Given the description of an element on the screen output the (x, y) to click on. 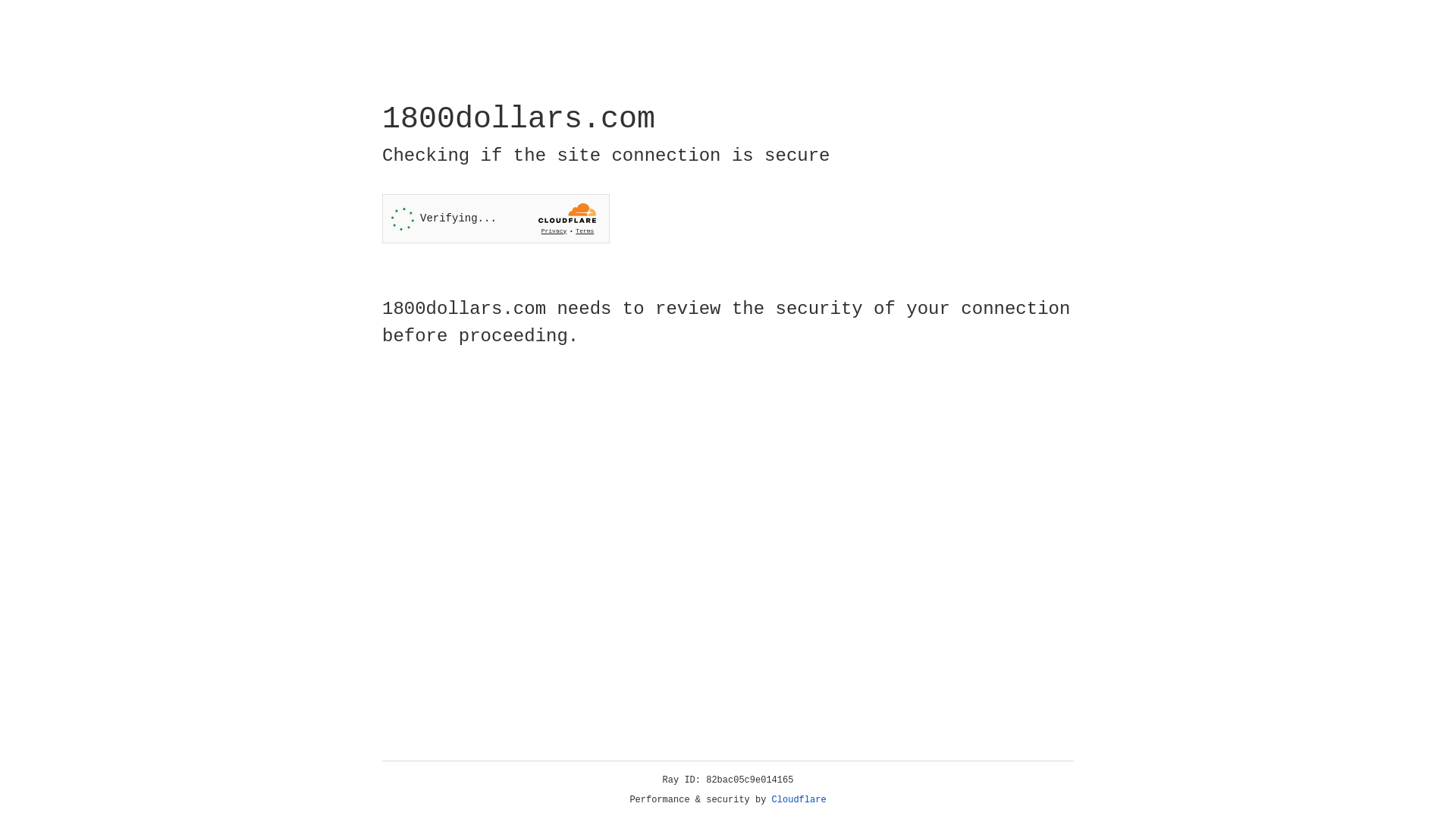
Widget containing a Cloudflare security challenge Element type: hover (495, 218)
Cloudflare Element type: text (798, 799)
